Given the description of an element on the screen output the (x, y) to click on. 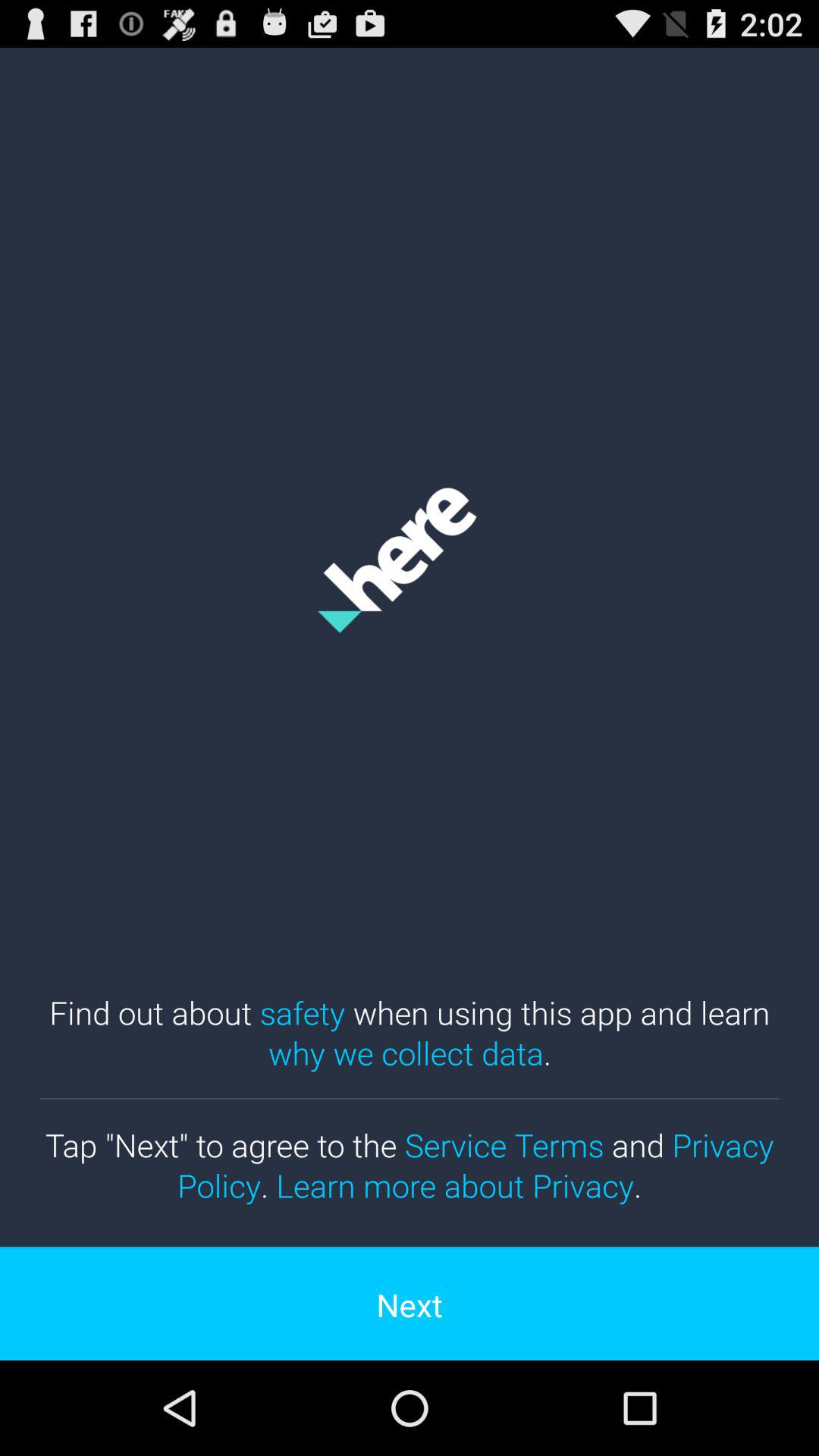
flip until the find out about icon (409, 1032)
